Given the description of an element on the screen output the (x, y) to click on. 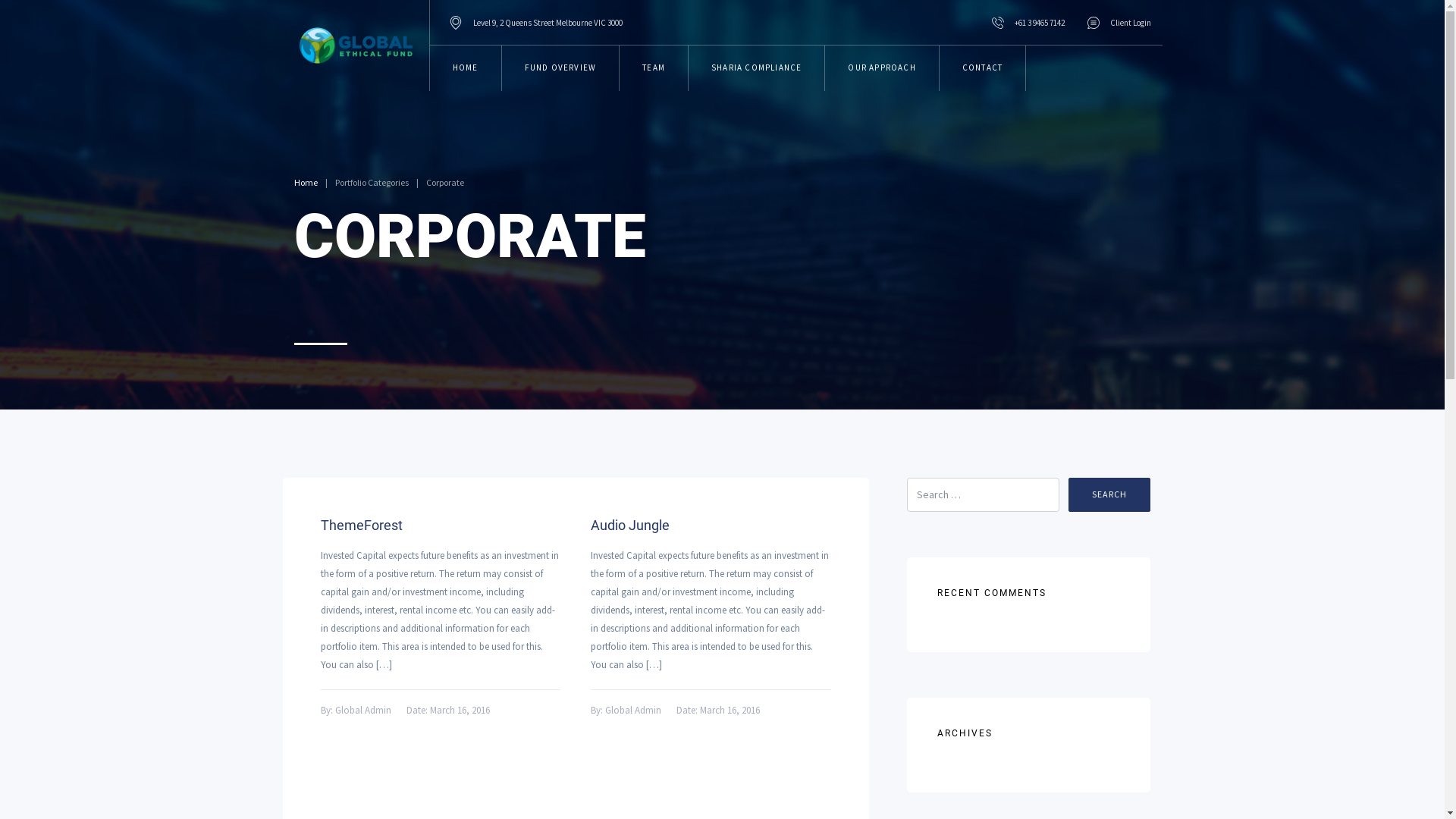
Global Admin Element type: text (363, 709)
Client Login Element type: text (1119, 22)
Global Admin Element type: text (633, 709)
March 16, 2016 Element type: text (459, 709)
TEAM Element type: text (653, 68)
Search Element type: text (1109, 494)
SHARIA COMPLIANCE Element type: text (756, 68)
Home Element type: text (305, 182)
FUND OVERVIEW Element type: text (561, 68)
CONTACT Element type: text (982, 68)
Audio Jungle Element type: text (710, 525)
HOME Element type: text (465, 68)
March 16, 2016 Element type: text (729, 709)
OUR APPROACH Element type: text (881, 68)
ThemeForest Element type: text (440, 525)
